Given the description of an element on the screen output the (x, y) to click on. 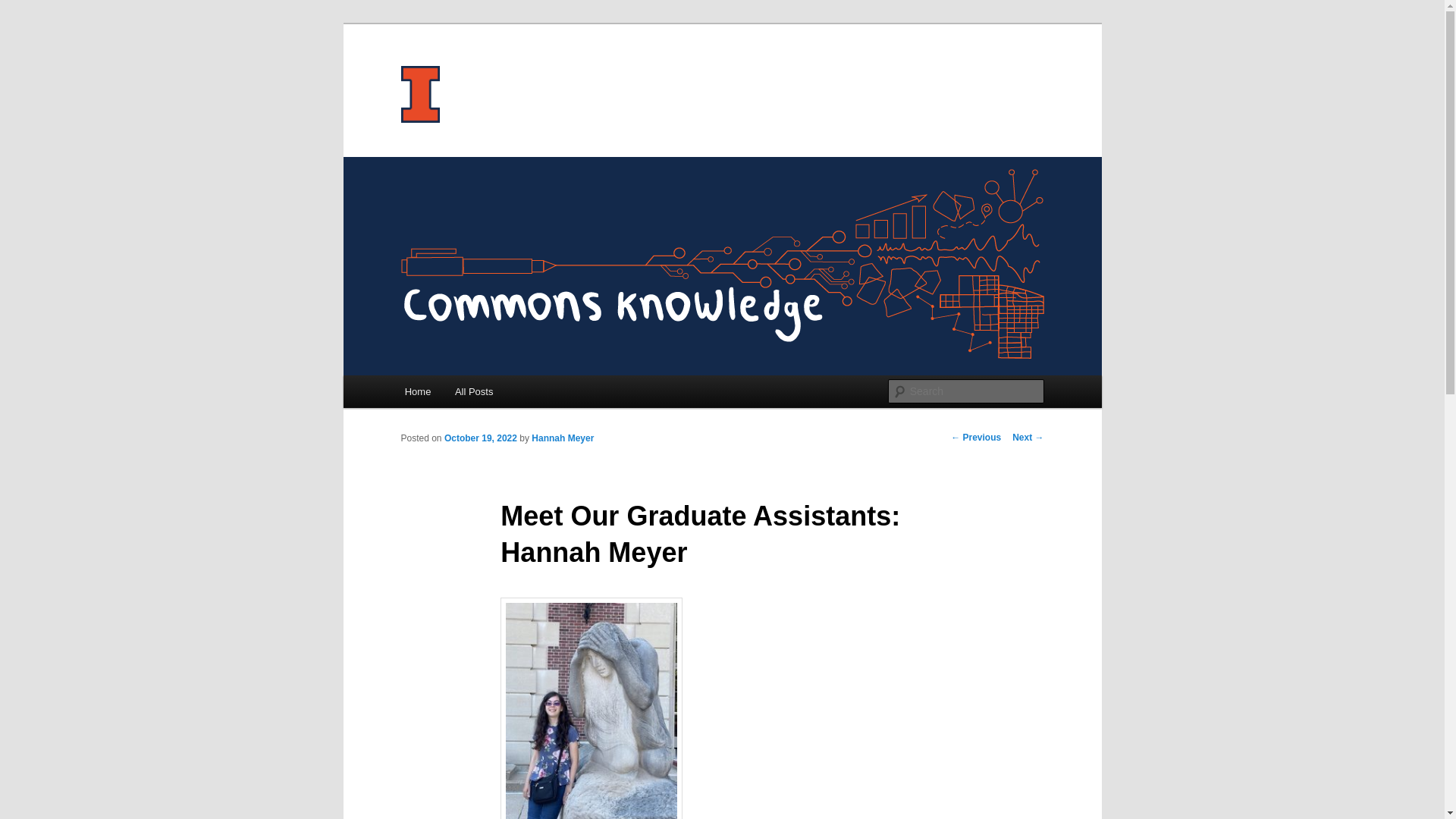
All Posts (473, 391)
Commons Knowledge (519, 78)
Search (24, 8)
View all posts by Hannah Meyer (562, 438)
Home (417, 391)
11:30 am (480, 438)
October 19, 2022 (480, 438)
Hannah Meyer (562, 438)
